Given the description of an element on the screen output the (x, y) to click on. 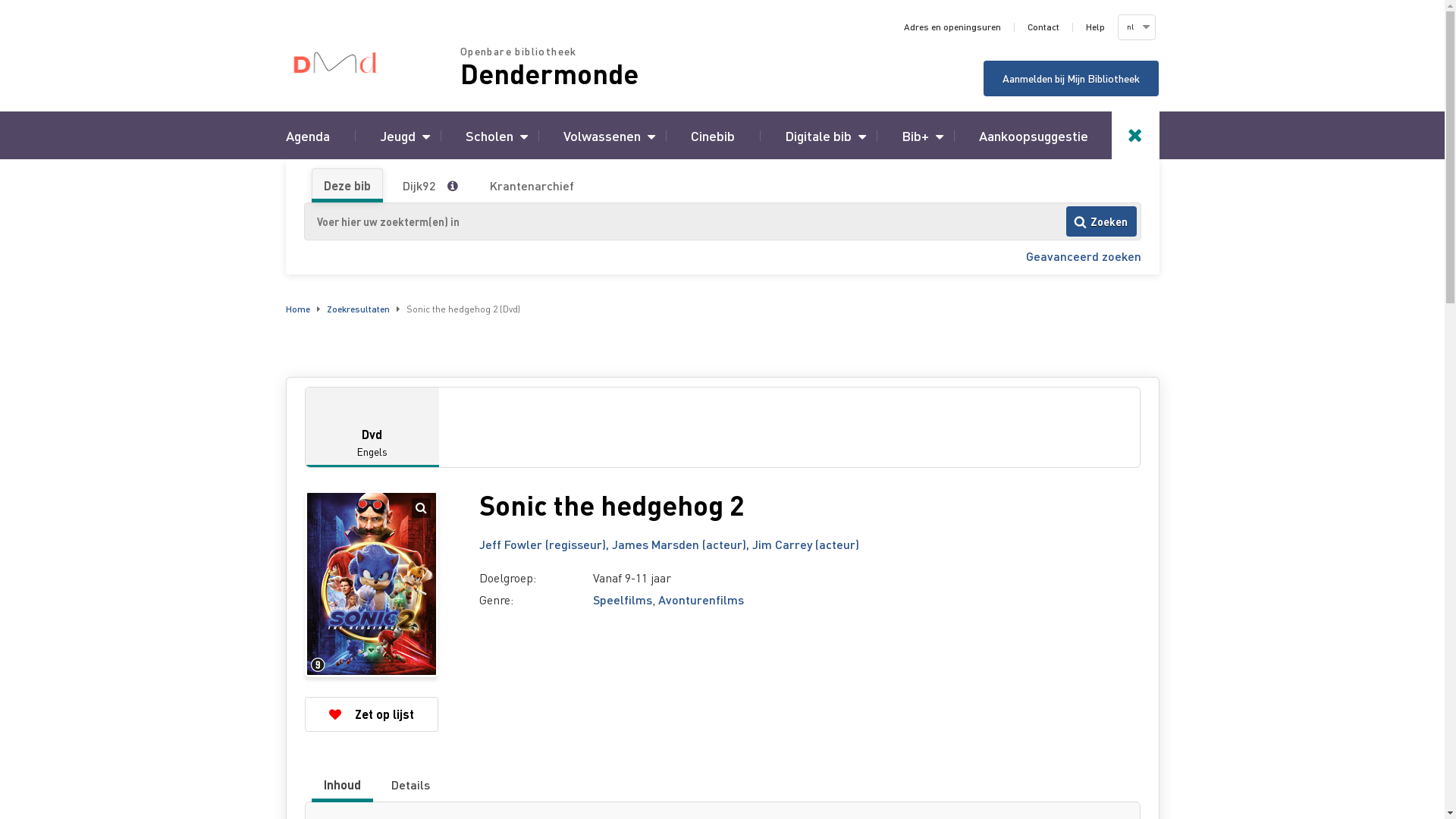
Avonturenfilms Element type: text (700, 599)
Zoekresultaten Element type: text (357, 308)
Zet op lijst Element type: text (371, 713)
Speelfilms Element type: text (622, 599)
Contact Element type: text (1042, 26)
Home Element type: hover (372, 62)
nl Element type: text (1134, 27)
Details Element type: text (409, 784)
Adres en openingsuren Element type: text (952, 26)
Aankoopsuggestie Element type: text (1032, 135)
Dijk92 Element type: text (419, 185)
Deze bib Element type: text (347, 185)
Jeff Fowler (regisseur), Element type: text (545, 544)
Home Element type: text (297, 308)
Geavanceerd zoeken Element type: text (1082, 255)
Zoeken Element type: text (1101, 221)
Aanmelden bij Mijn Bibliotheek Element type: text (1070, 78)
James Marsden (acteur), Element type: text (681, 544)
Jim Carrey (acteur) Element type: text (805, 544)
Overslaan en naar zoeken gaan Element type: text (0, 0)
Inhoud Element type: text (342, 784)
Cinebib Element type: text (712, 135)
Meer informatie Element type: hover (458, 185)
Krantenarchief Element type: text (530, 185)
Agenda Element type: text (307, 135)
Help Element type: text (1094, 26)
Toggle search Element type: hover (1135, 135)
